Given the description of an element on the screen output the (x, y) to click on. 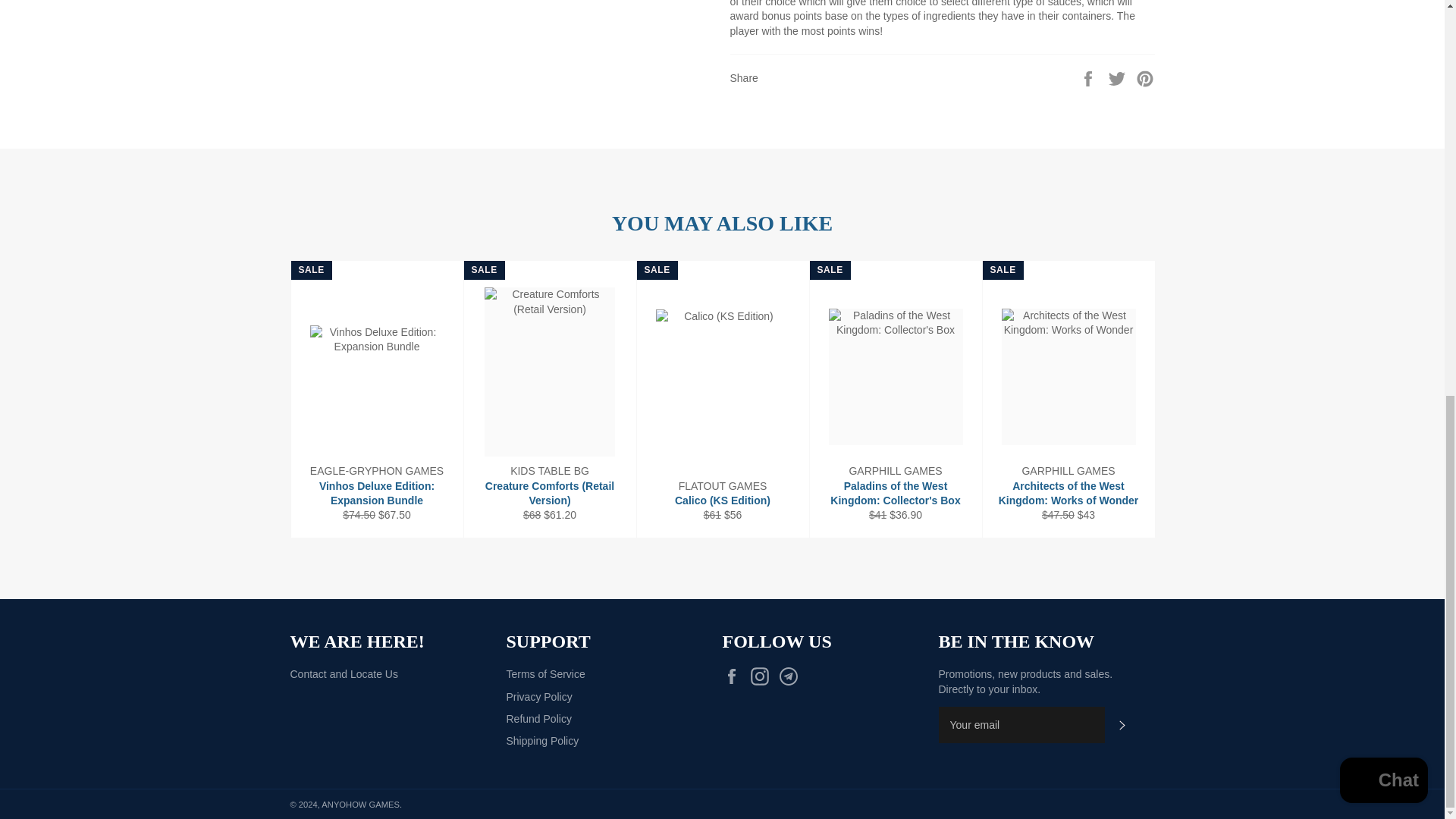
Pin on Pinterest (1144, 77)
Share on Facebook (1089, 77)
ANYOHOW GAMES on Pinterest (791, 676)
Shopify online store chat (1383, 21)
Tweet on Twitter (1118, 77)
ANYOHOW GAMES on Facebook (735, 676)
ANYOHOW GAMES on Instagram (763, 676)
